Given the description of an element on the screen output the (x, y) to click on. 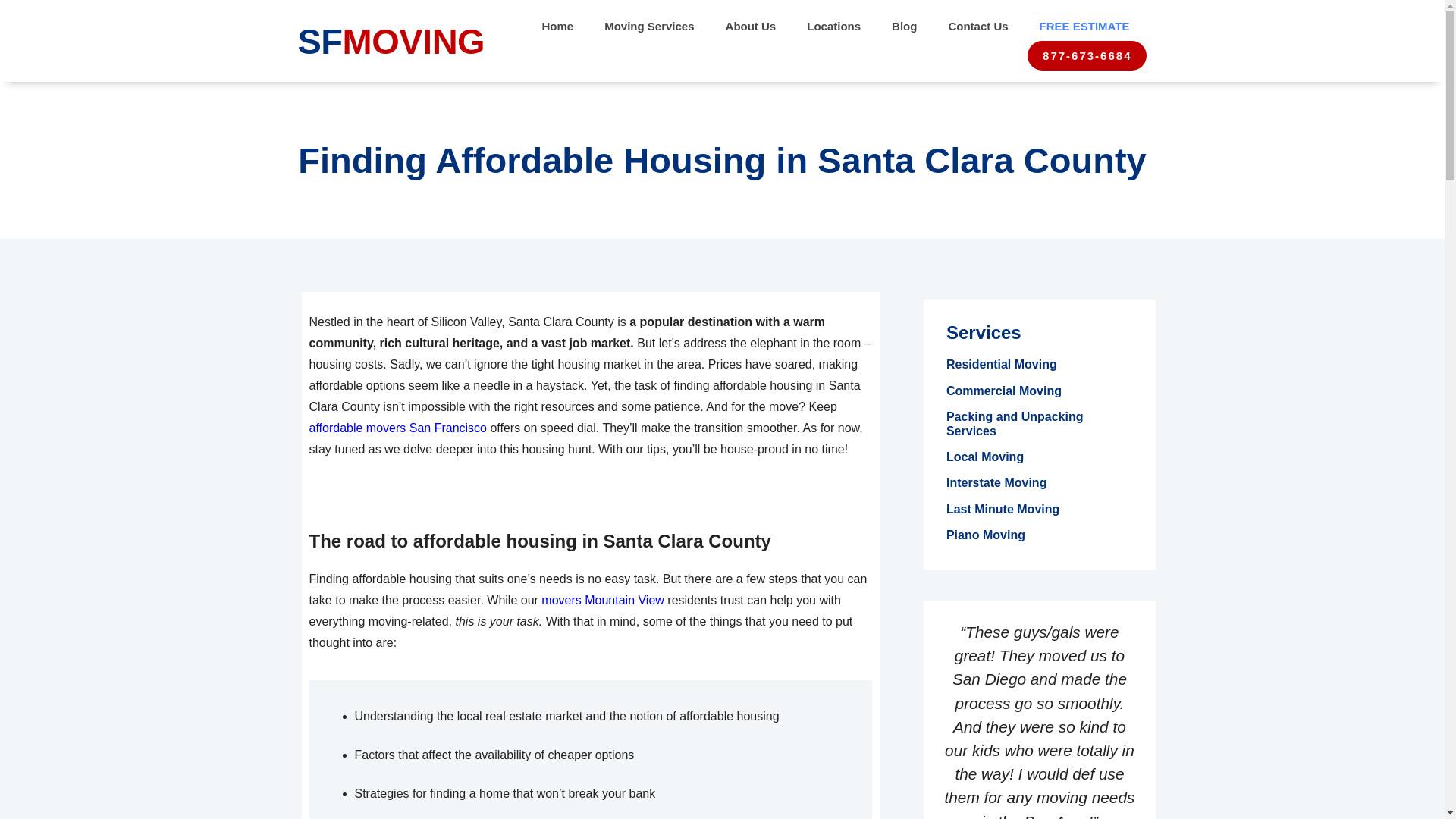
Contact Us (978, 25)
SFMOVING (390, 41)
877-673-6684 (1087, 55)
FREE ESTIMATE (1084, 25)
Blog (903, 25)
Home (556, 25)
Moving Services (649, 25)
Locations (834, 25)
About Us (750, 25)
